Given the description of an element on the screen output the (x, y) to click on. 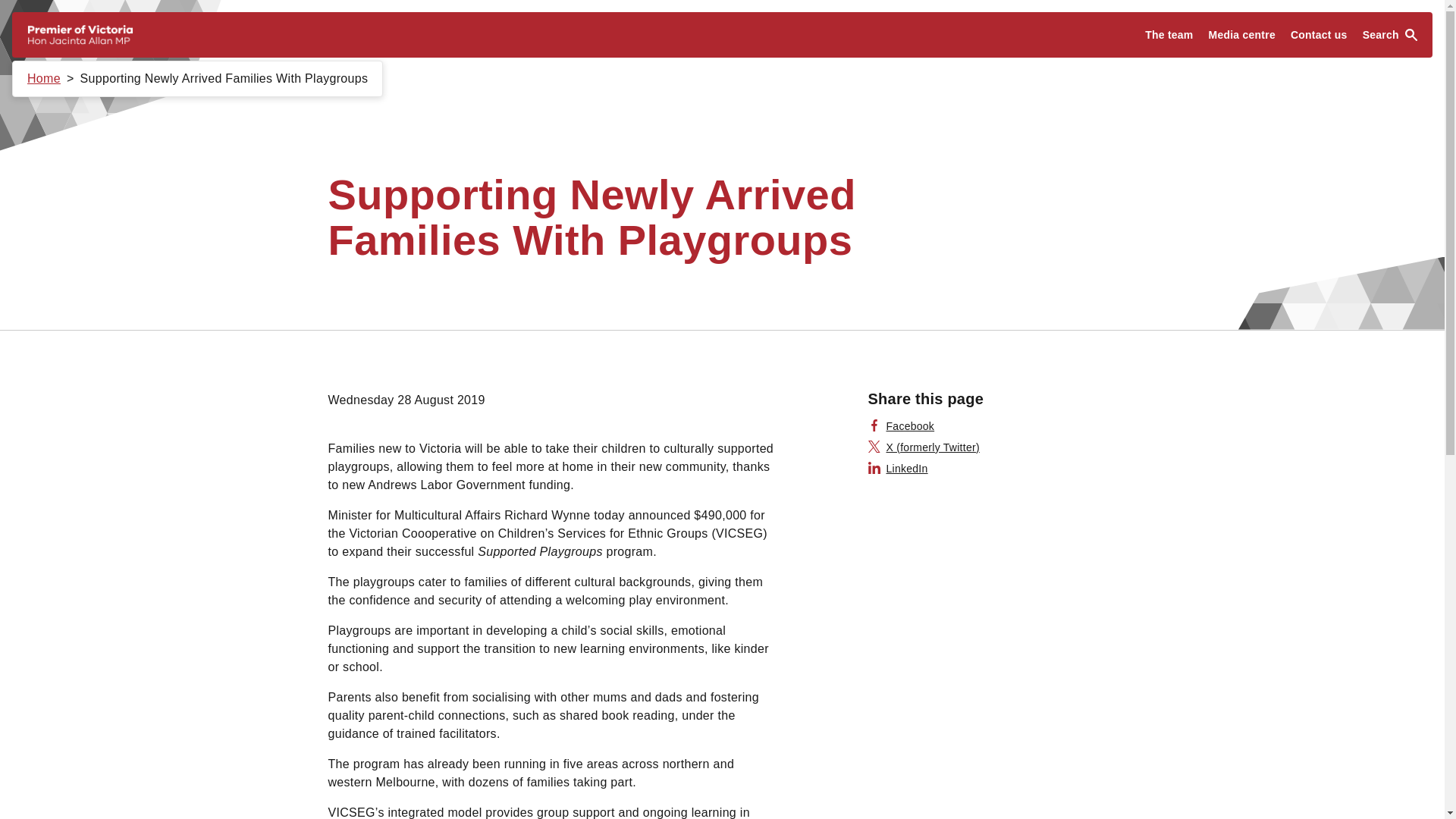
Home (44, 78)
Media centre (1241, 34)
LinkedIn (897, 468)
Facebook (900, 426)
Contact us (1318, 34)
The team (1168, 34)
